Given the description of an element on the screen output the (x, y) to click on. 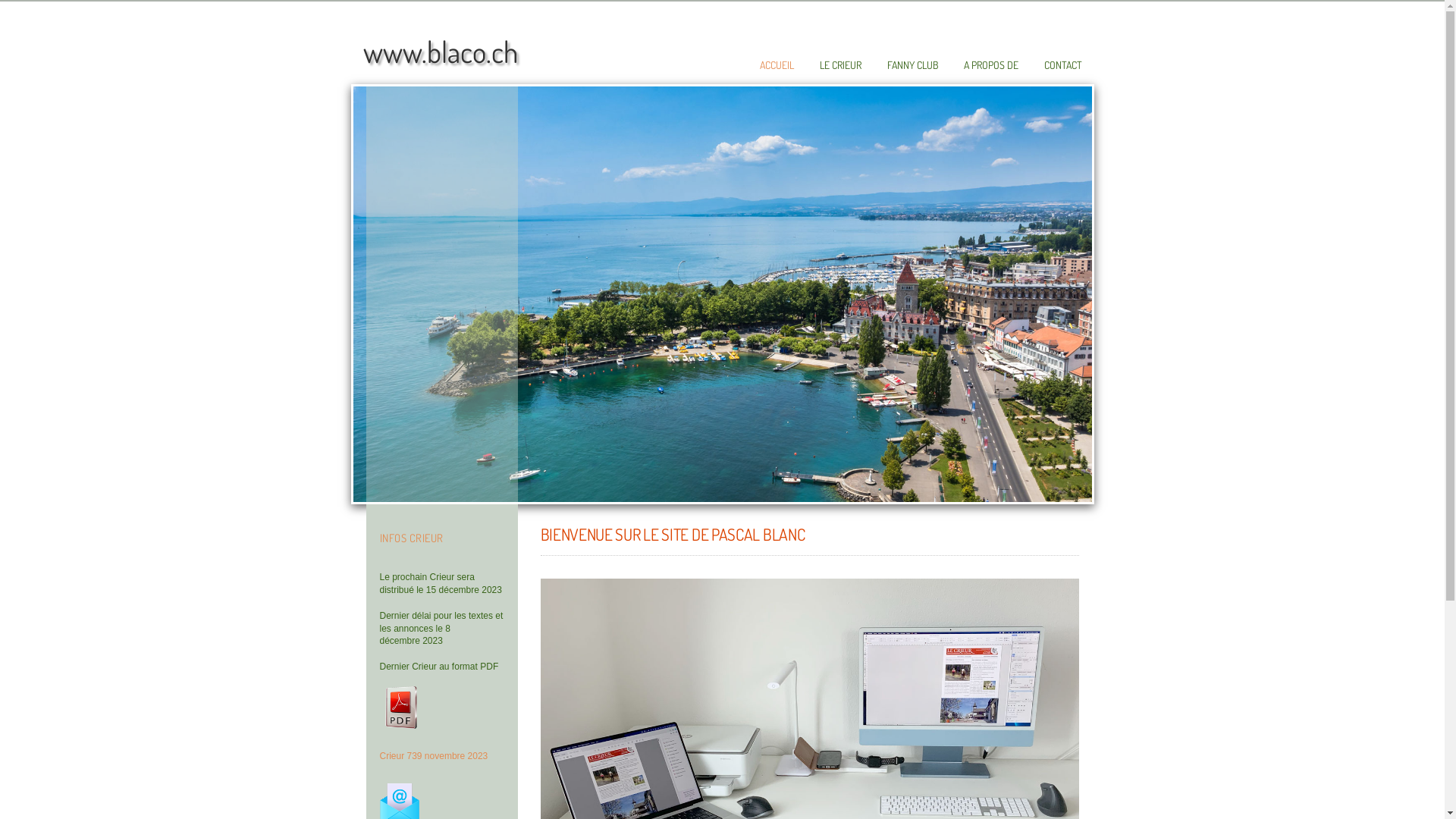
CONTACT Element type: text (1062, 65)
BIENVENUE SUR LE SITE DE PASCAL BLANC Element type: text (671, 534)
www.blaco.ch Element type: text (439, 50)
FANNY CLUB Element type: text (912, 65)
A PROPOS DE Element type: text (989, 65)
Crieur 739 novembre 2023 Element type: text (433, 755)
ACCUEIL Element type: text (776, 65)
LE CRIEUR Element type: text (839, 65)
